Given the description of an element on the screen output the (x, y) to click on. 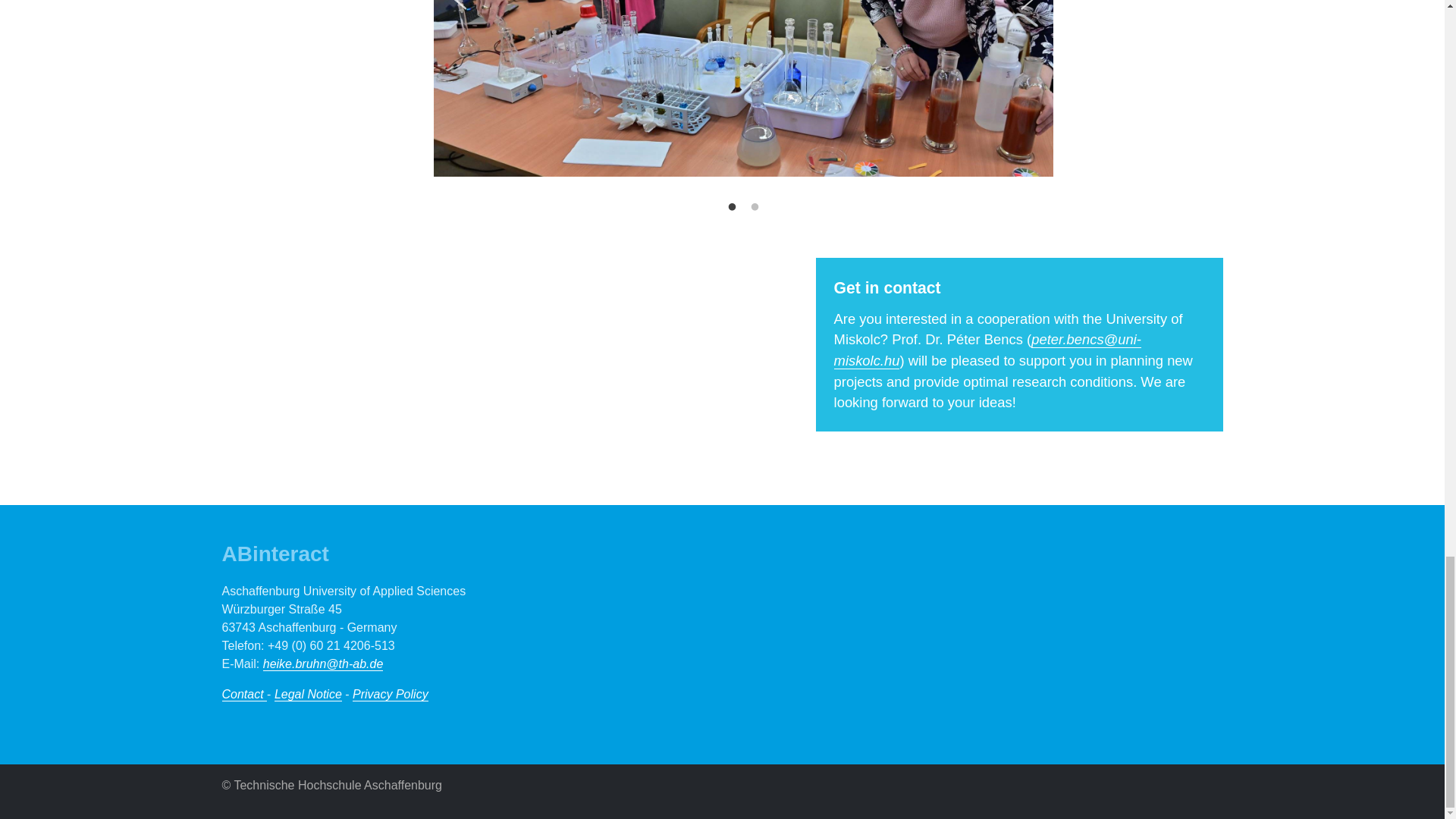
1 (731, 207)
Previous (466, 1)
2 (753, 207)
Next (1019, 1)
Contact (243, 694)
